Given the description of an element on the screen output the (x, y) to click on. 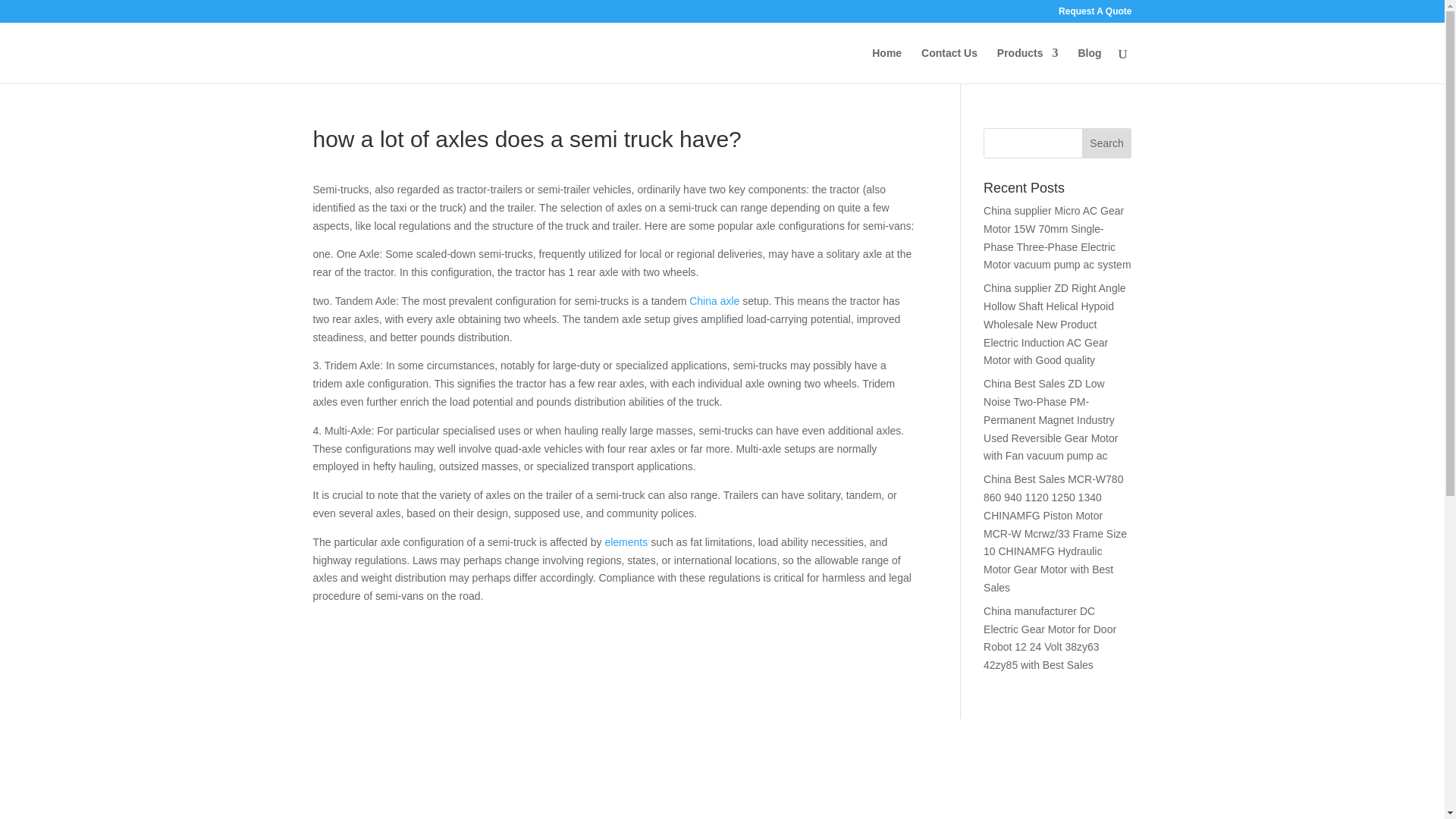
Search (1106, 142)
Request A Quote (1094, 14)
elements (625, 541)
Search (1106, 142)
Products (1027, 65)
China axle (713, 300)
